Given the description of an element on the screen output the (x, y) to click on. 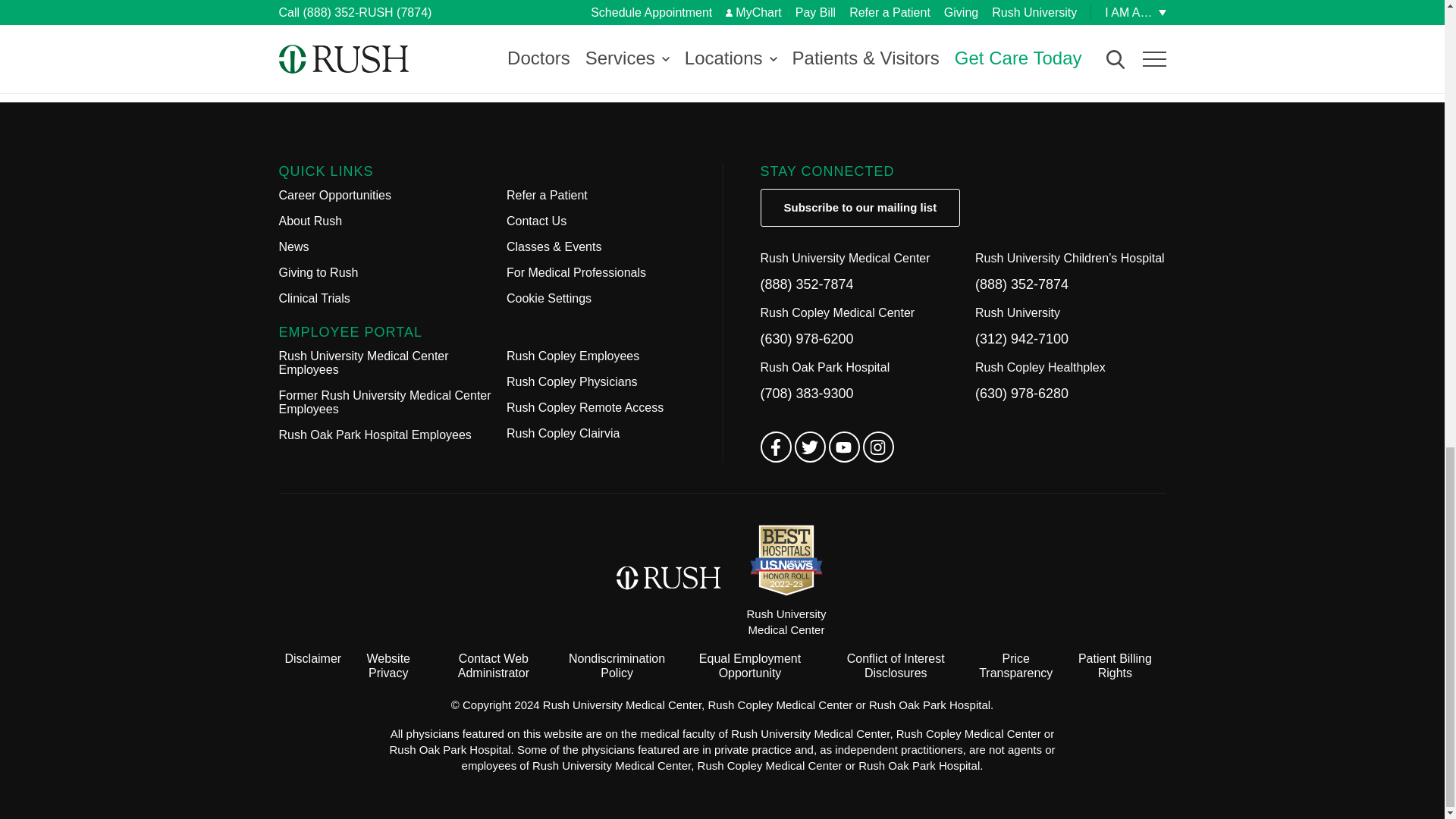
Rush is an equal opportunity employer.  (749, 665)
